Given the description of an element on the screen output the (x, y) to click on. 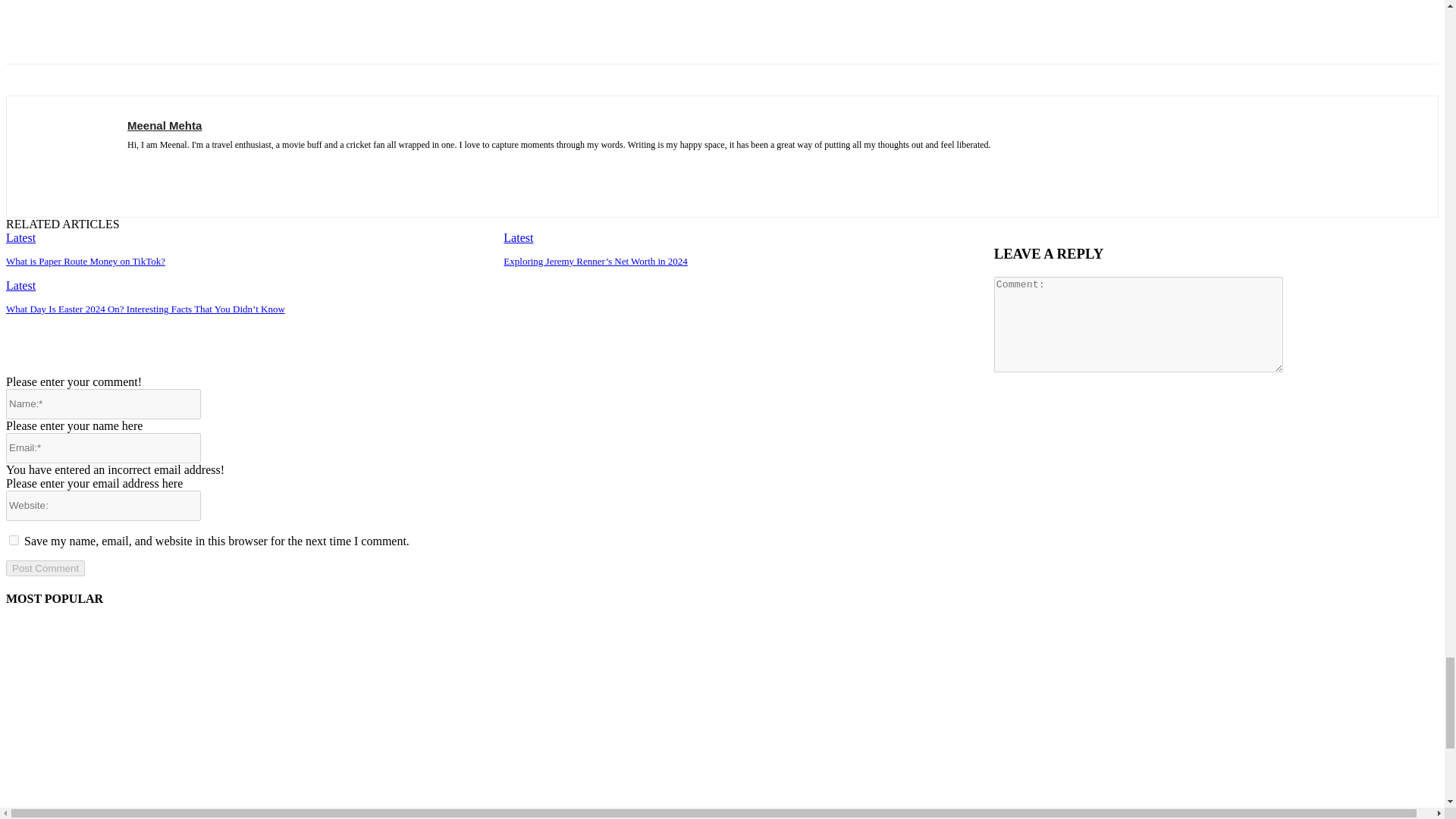
yes (13, 540)
Post Comment (44, 568)
